Given the description of an element on the screen output the (x, y) to click on. 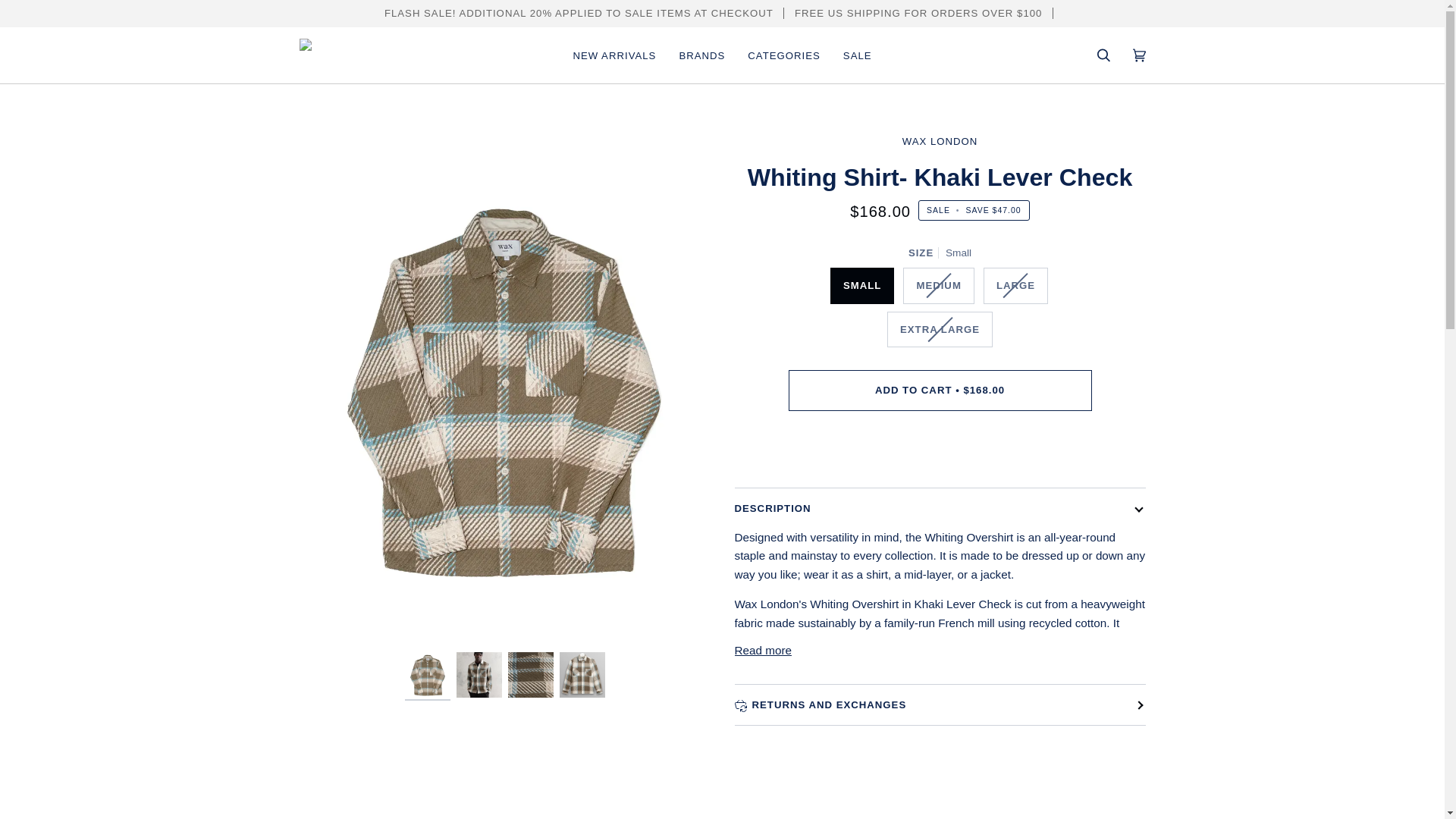
NEW ARRIVALS (613, 55)
BRANDS (701, 55)
